Given the description of an element on the screen output the (x, y) to click on. 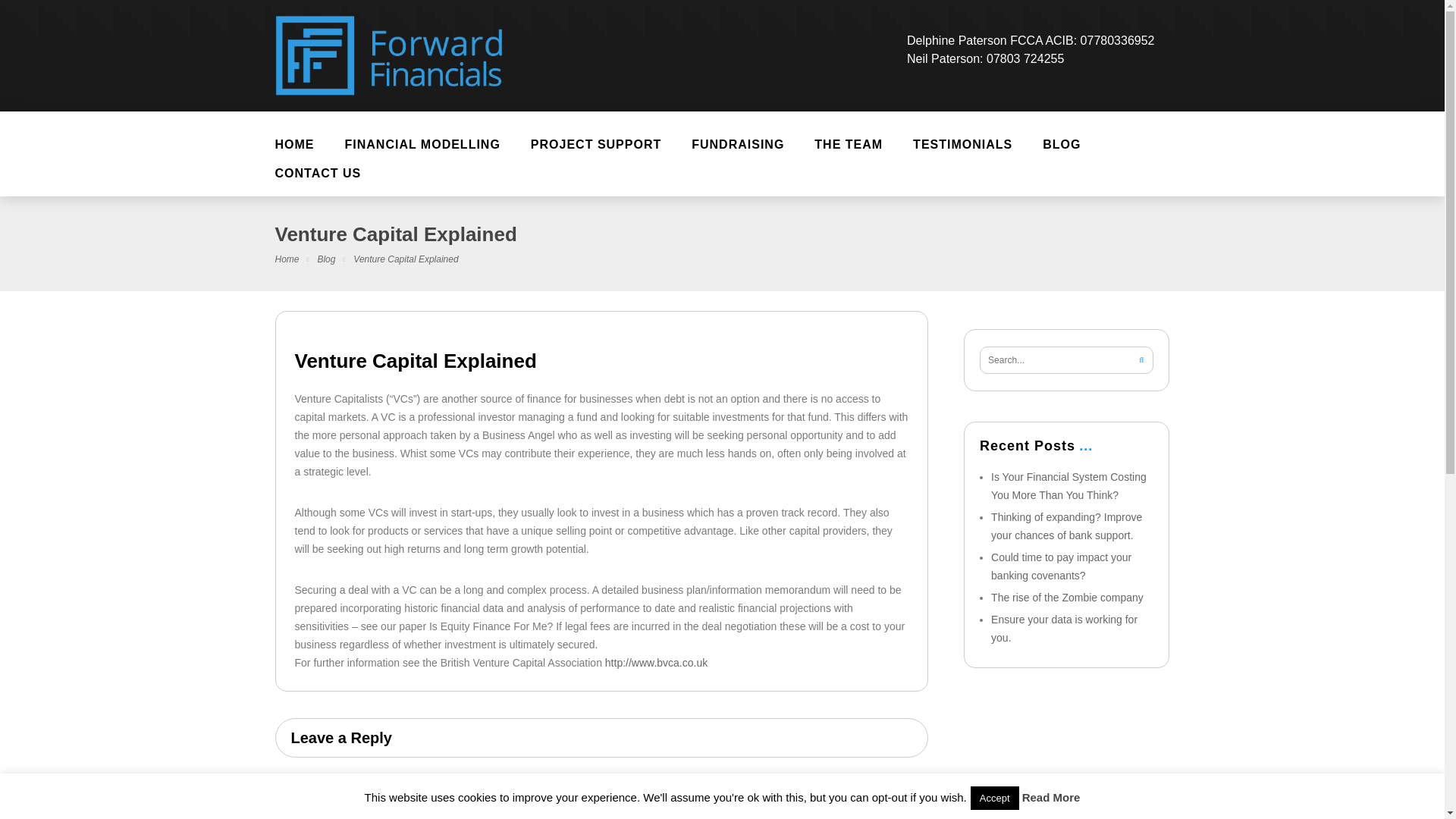
Blog (325, 258)
CONTACT US (317, 181)
TESTIMONIALS (962, 152)
Homepage (286, 258)
Venture Capital Explained (600, 363)
BLOG (1061, 152)
FUNDRAISING (738, 152)
Read More (1051, 797)
Is Your Financial System Costing You More Than You Think? (1069, 485)
HOME (294, 152)
